Given the description of an element on the screen output the (x, y) to click on. 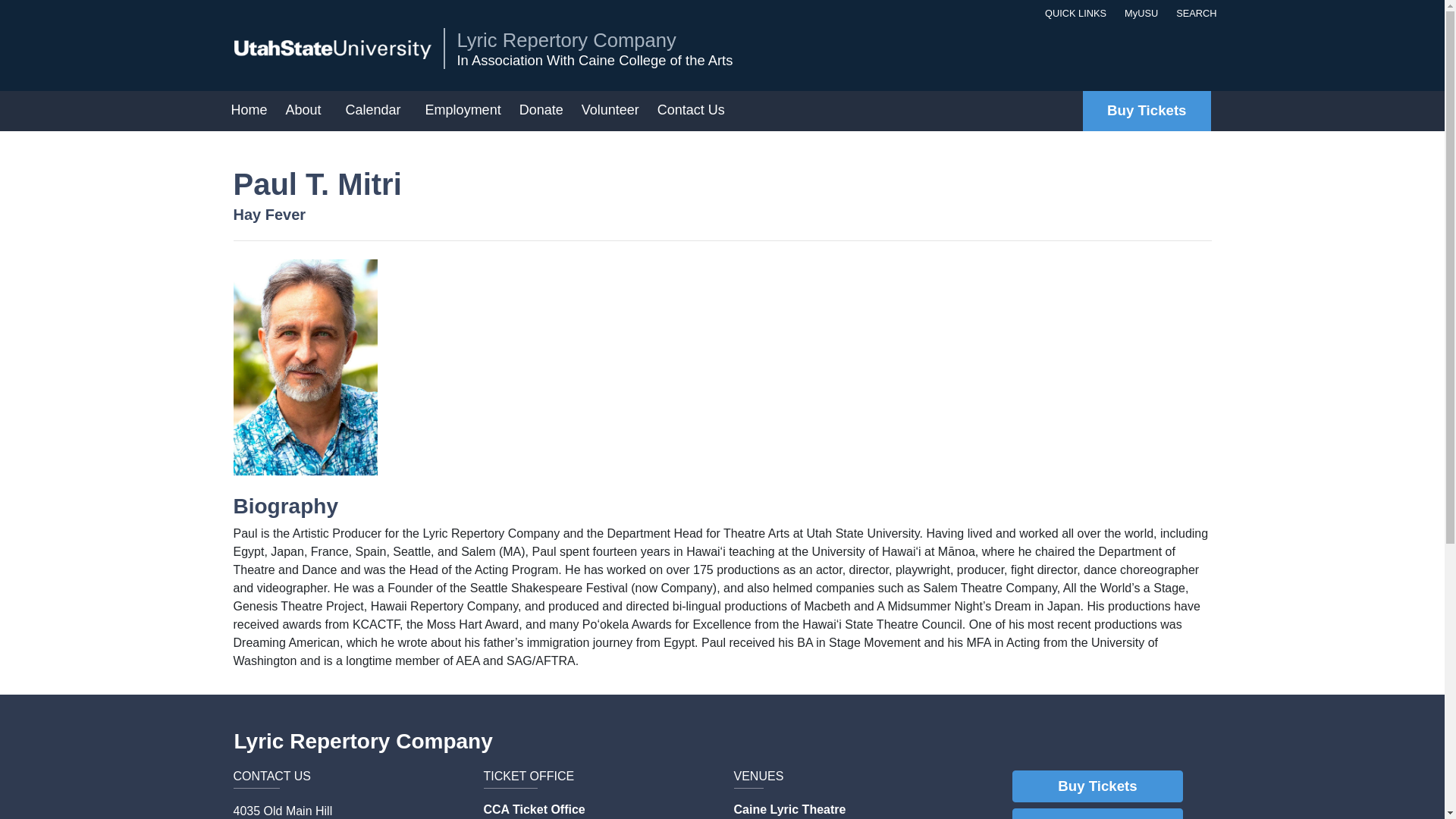
Contact Us (690, 110)
About (306, 110)
Lyric Repertory Company (594, 39)
In Association With Caine College of the Arts (594, 60)
MyUSU (1137, 13)
QUICK LINKS (1072, 13)
Home (248, 110)
Buy Tickets (1146, 110)
Calendar (376, 110)
Employment (463, 110)
SEARCH (1193, 13)
Volunteer (609, 110)
Donate (541, 110)
